Given the description of an element on the screen output the (x, y) to click on. 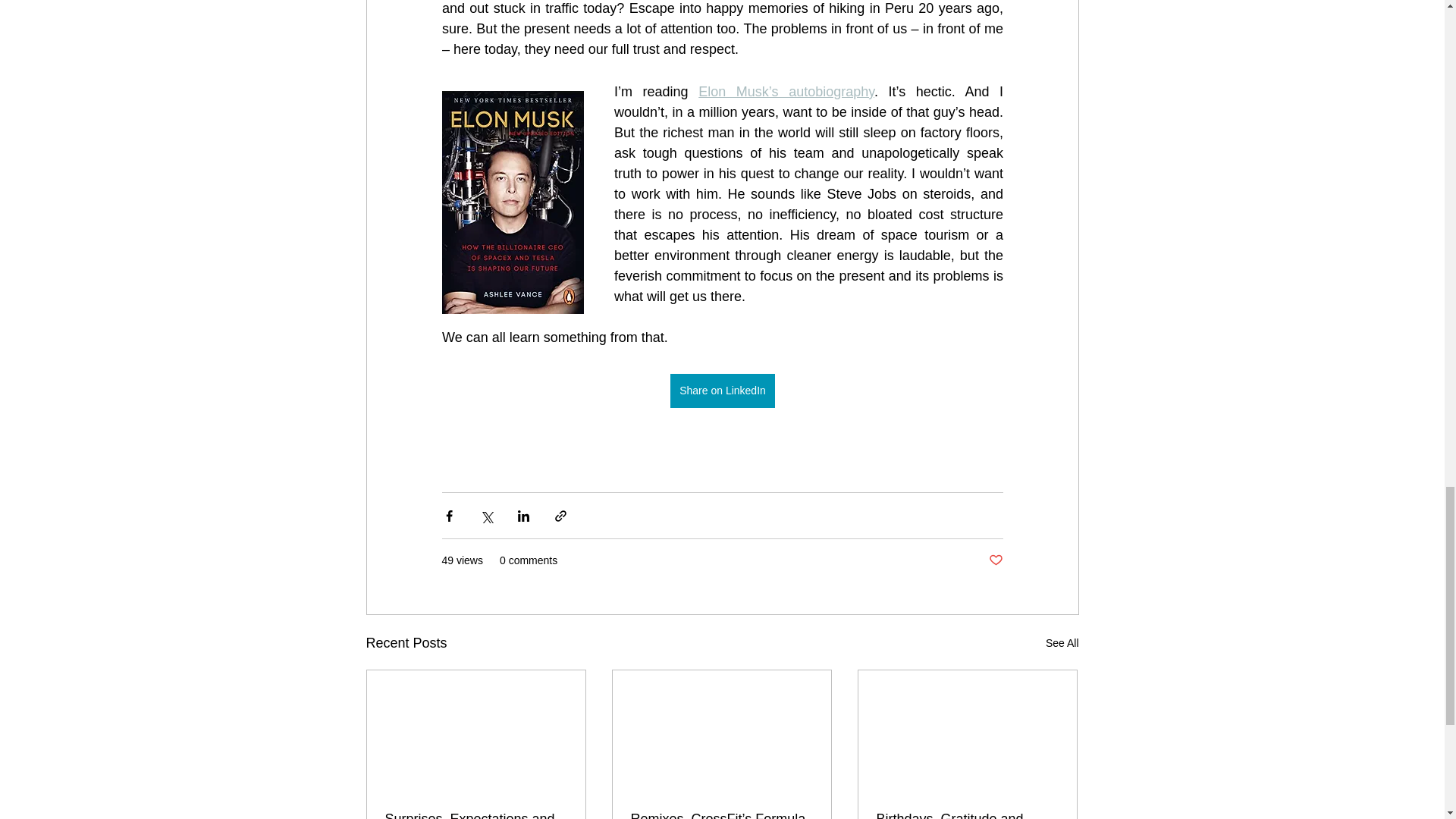
Post not marked as liked (995, 560)
See All (1061, 643)
Birthdays, Gratitude and Living in the Present (967, 815)
Share on LinkedIn (721, 390)
Surprises, Expectations and Not Being So Controlling (476, 815)
